Given the description of an element on the screen output the (x, y) to click on. 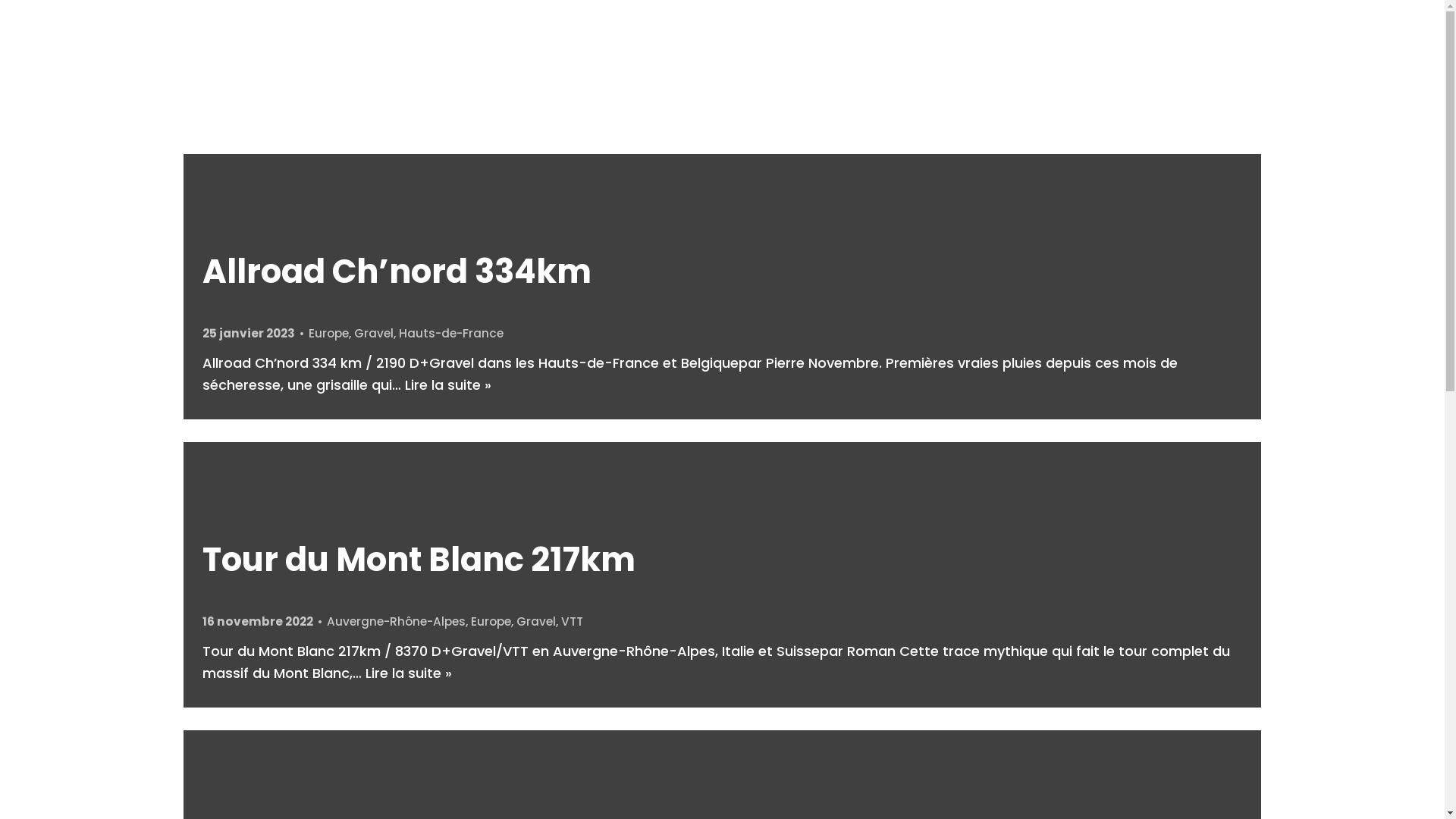
VTT Element type: text (572, 621)
Tour du Mont Blanc 217km Element type: text (418, 559)
Europe Element type: text (490, 621)
Aller au contenu Element type: text (15, 7)
Europe Element type: text (328, 333)
Gravel Element type: text (373, 333)
Hauts-de-France Element type: text (450, 333)
Gravel Element type: text (535, 621)
